Given the description of an element on the screen output the (x, y) to click on. 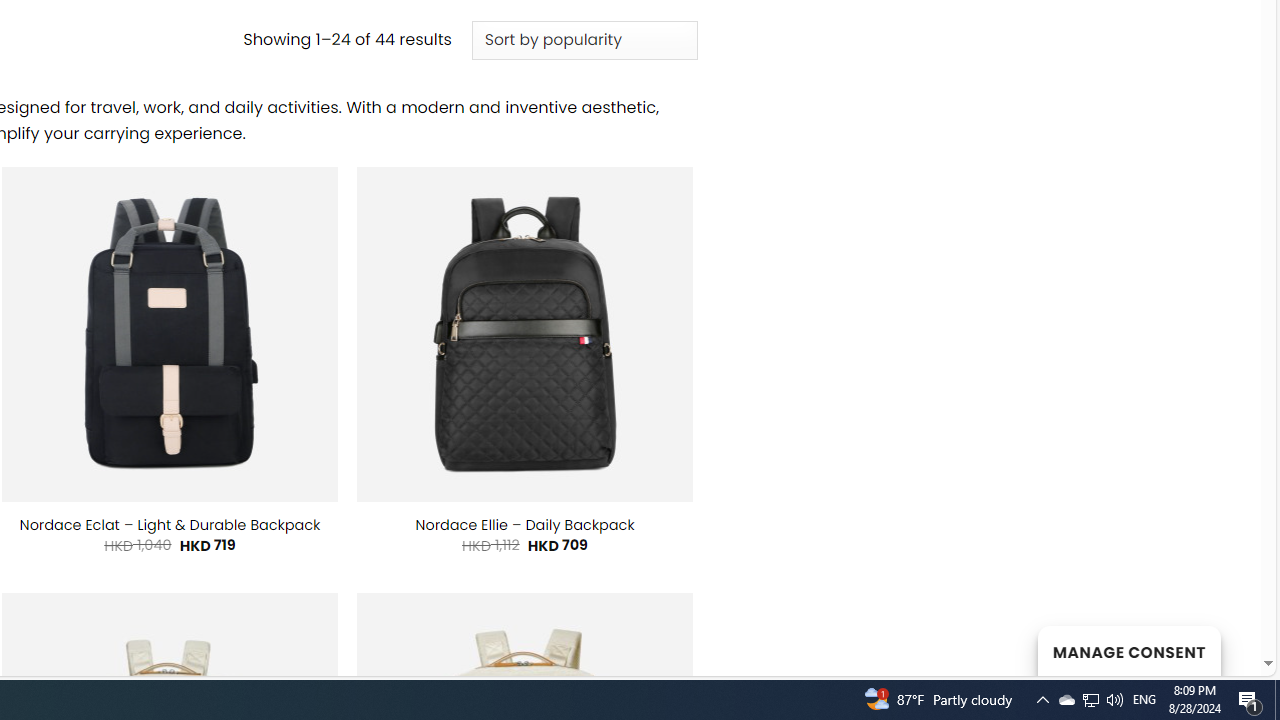
MANAGE CONSENT (1128, 650)
Shop order (584, 40)
